Given the description of an element on the screen output the (x, y) to click on. 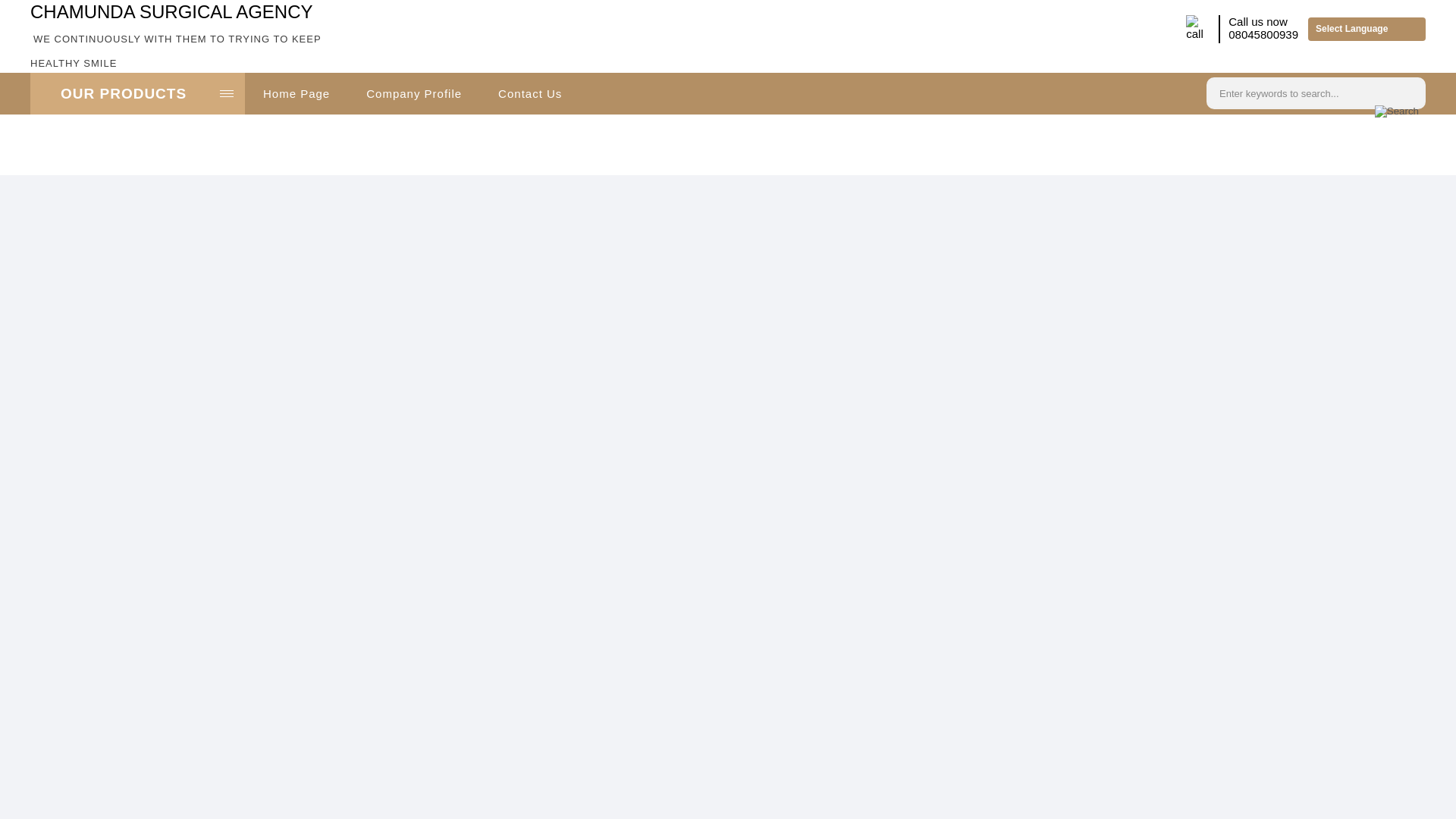
submit (1396, 111)
Enter keywords to search... (1297, 91)
OUR PRODUCTS (137, 93)
submit (1396, 111)
Select Language (1366, 28)
